Given the description of an element on the screen output the (x, y) to click on. 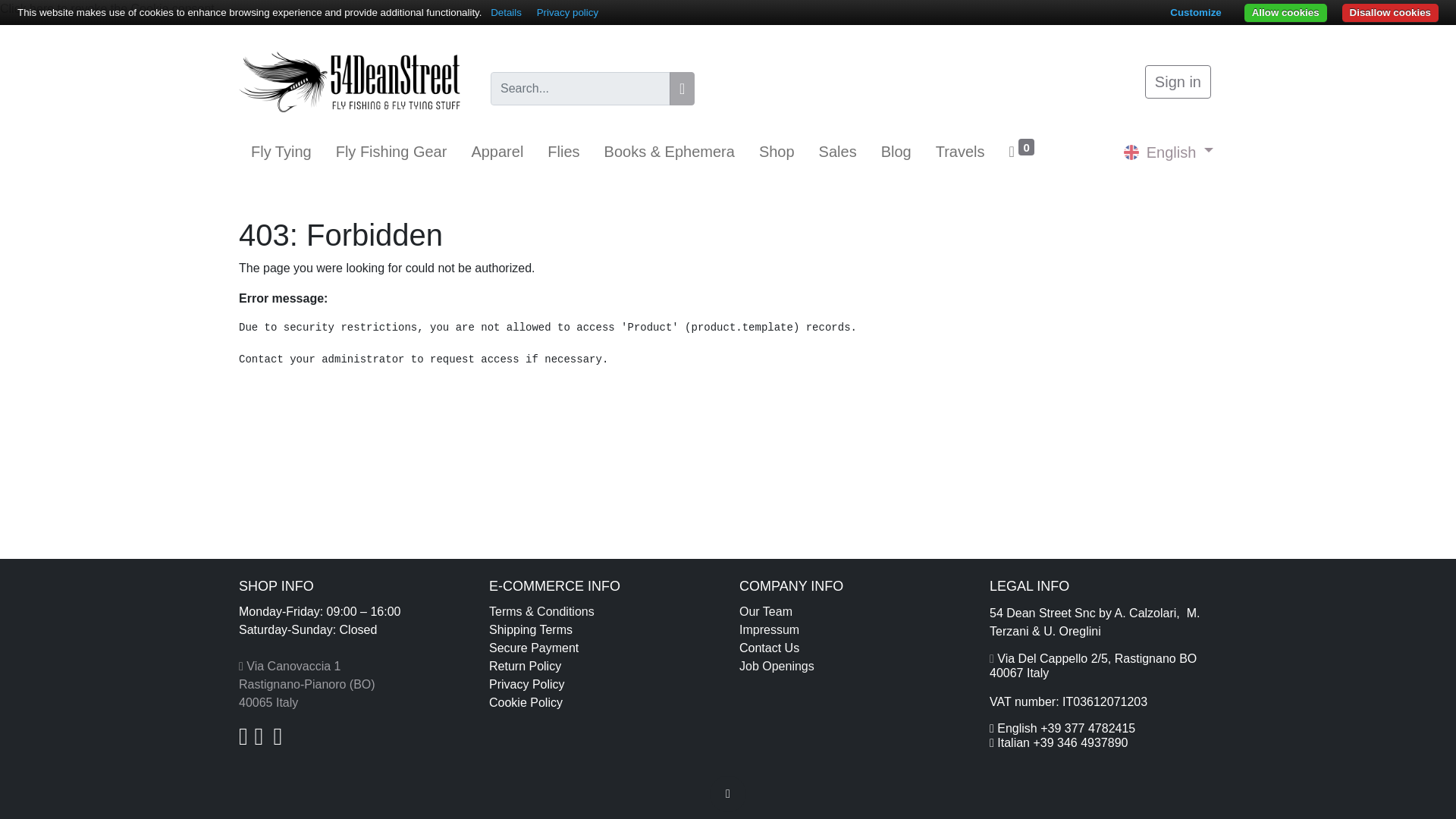
Shipping Terms (530, 629)
54 Dean Street Fly Shop (349, 81)
Apparel (496, 151)
Fly Tying (280, 151)
Job Openings (776, 666)
Click here to revoke the Cookie consent (107, 8)
Privacy Policy (526, 684)
Contact Us (769, 647)
Impressum (769, 629)
Shop (776, 151)
